Given the description of an element on the screen output the (x, y) to click on. 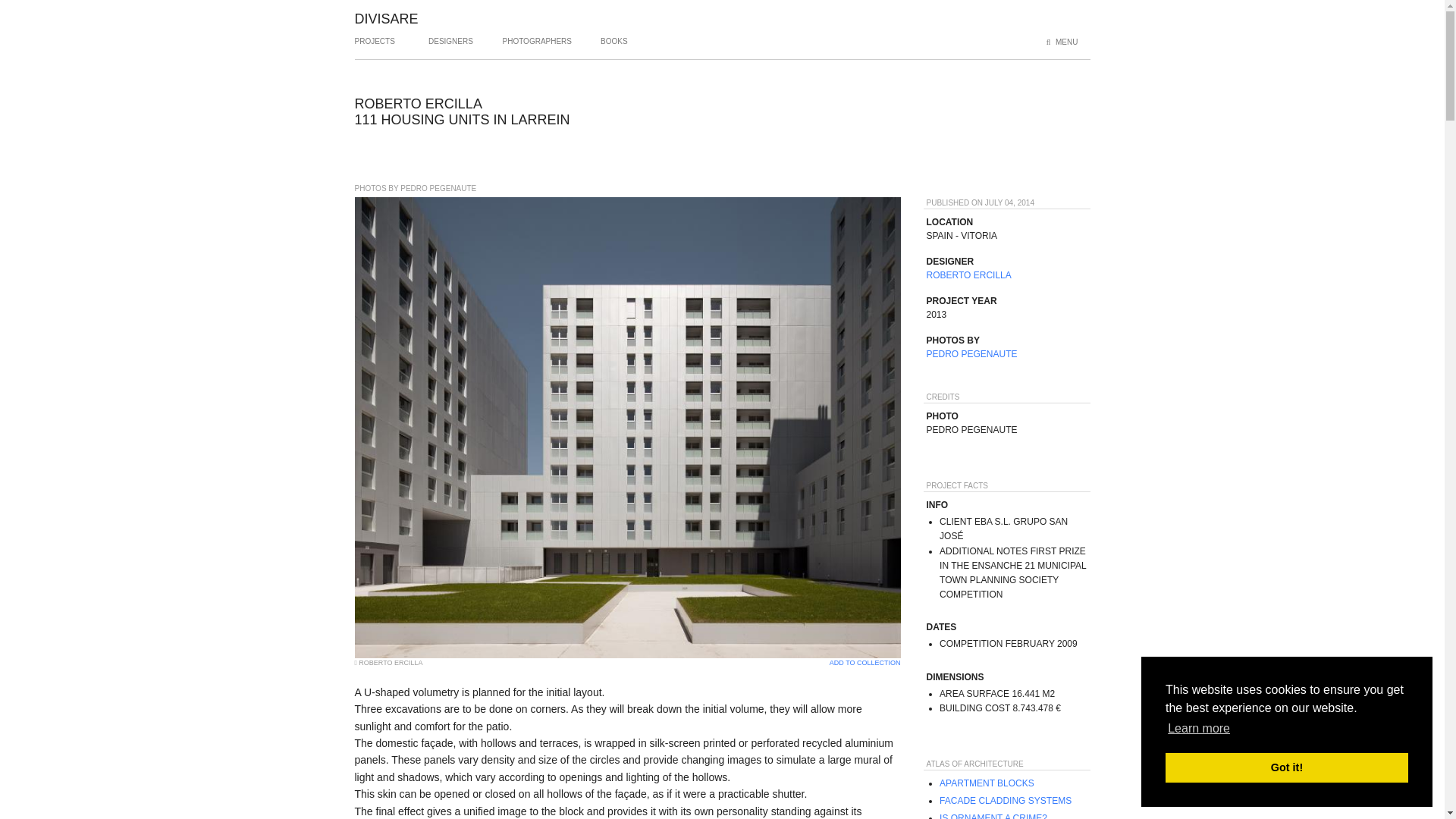
DIVISARE (387, 18)
Learn more (1198, 728)
PROJECTS (374, 46)
Got it! (1286, 767)
